Given the description of an element on the screen output the (x, y) to click on. 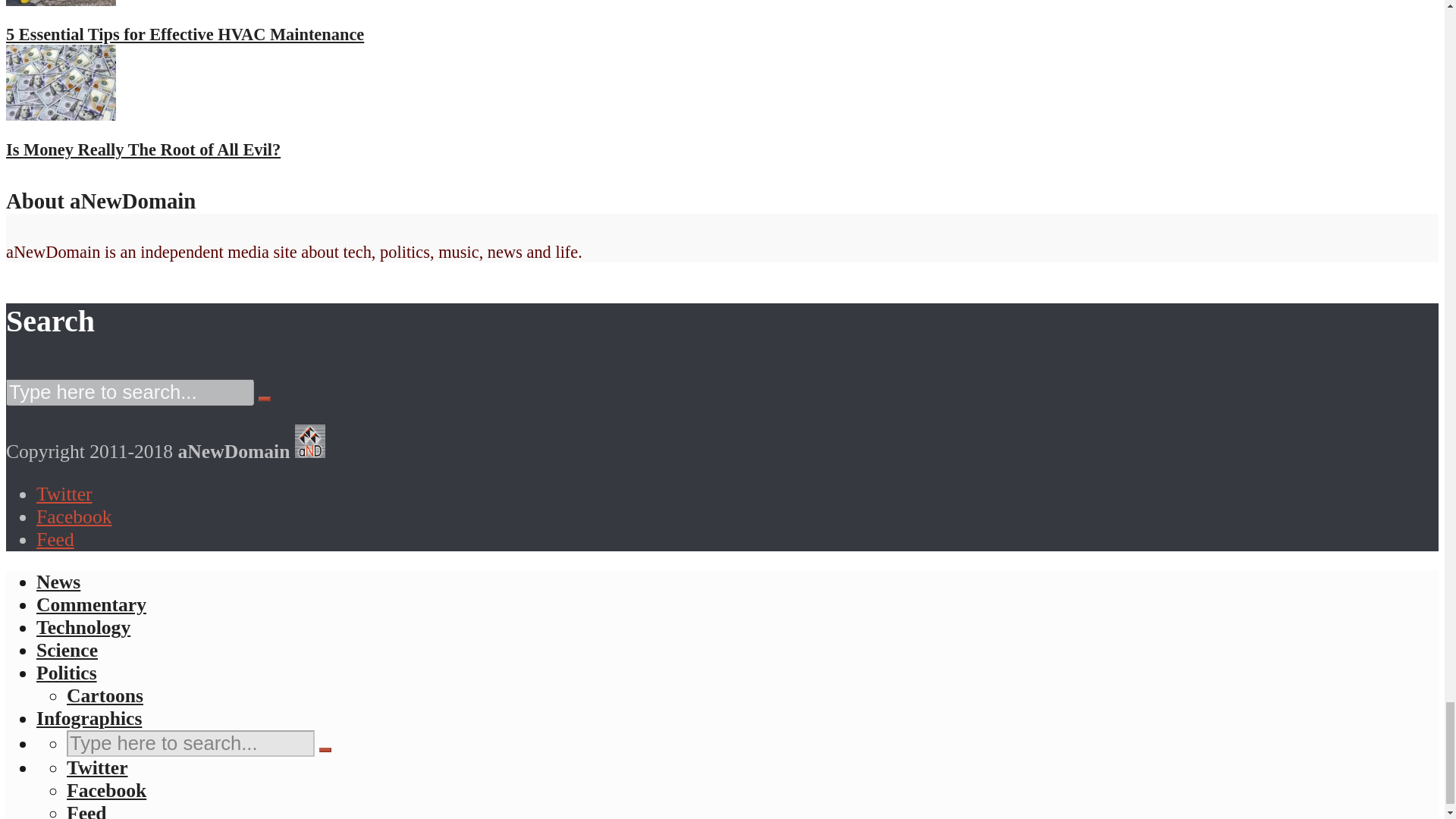
Type here to search... (190, 743)
Type here to search... (129, 392)
Type here to search... (129, 392)
Type here to search... (190, 743)
